Given the description of an element on the screen output the (x, y) to click on. 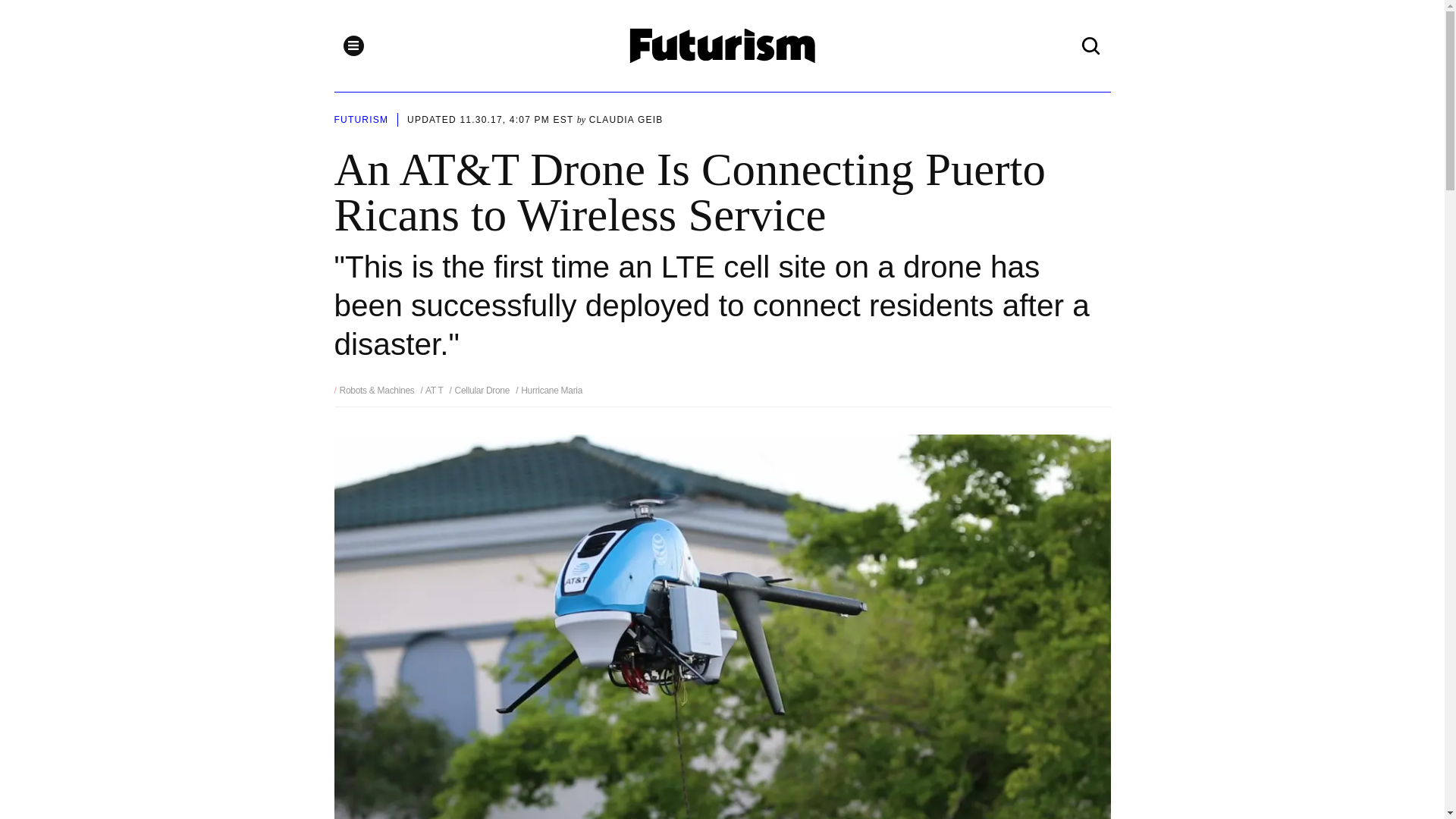
CLAUDIA GEIB (626, 119)
Futurism (722, 45)
hurricane maria (548, 389)
cellular drone (480, 389)
Claudia Geib (626, 119)
